Given the description of an element on the screen output the (x, y) to click on. 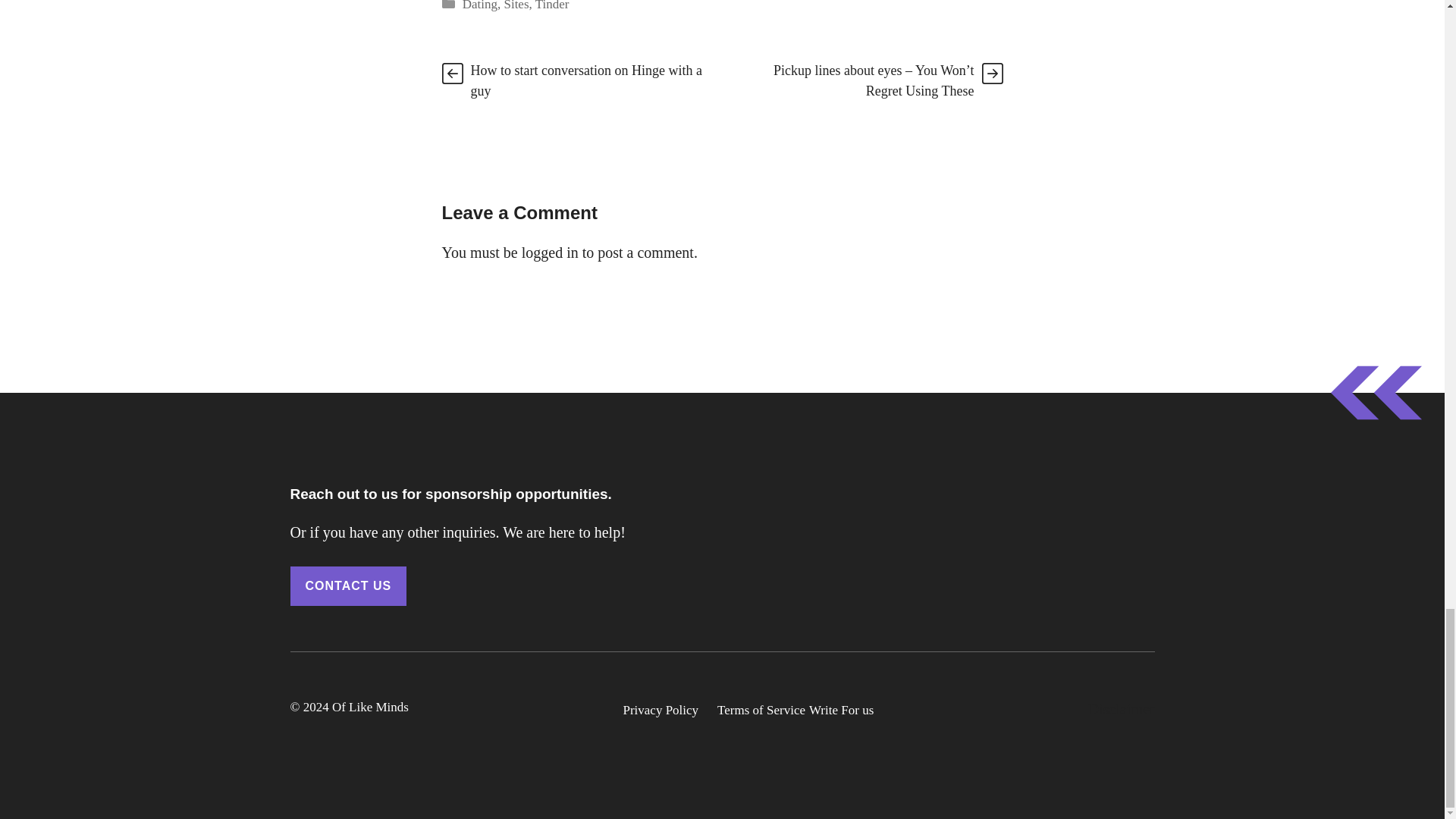
Tinder (552, 5)
Privacy Policy (660, 710)
Dating (480, 5)
logged in (549, 252)
Sites (515, 5)
CONTACT US (347, 586)
How to start conversation on Hinge with a guy (585, 80)
